Given the description of an element on the screen output the (x, y) to click on. 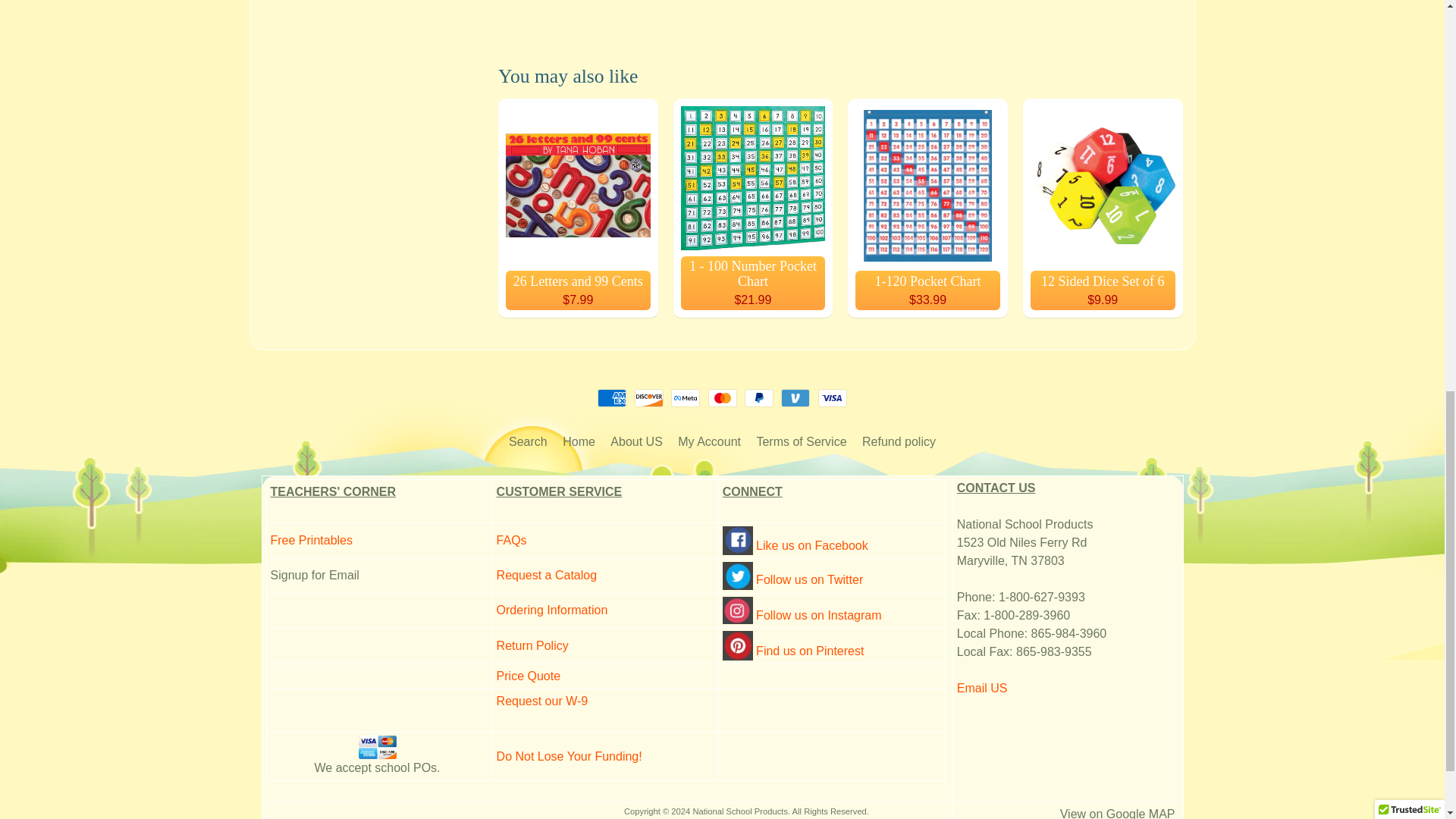
Send for Price Quote (528, 675)
Free PDF Printables (310, 540)
Discover (648, 398)
Order Return Policy (532, 645)
12 Sided Dice Set of 6 (1102, 207)
PayPal (758, 398)
American Express (611, 398)
Frequency Asked Questions (511, 540)
Mastercard (721, 398)
1-120 Pocket Chart (927, 207)
Visa (832, 398)
Venmo (794, 398)
1 - 100 Number Pocket Chart (752, 207)
26 Letters and 99 Cents (577, 207)
Request a Catalog (546, 574)
